Given the description of an element on the screen output the (x, y) to click on. 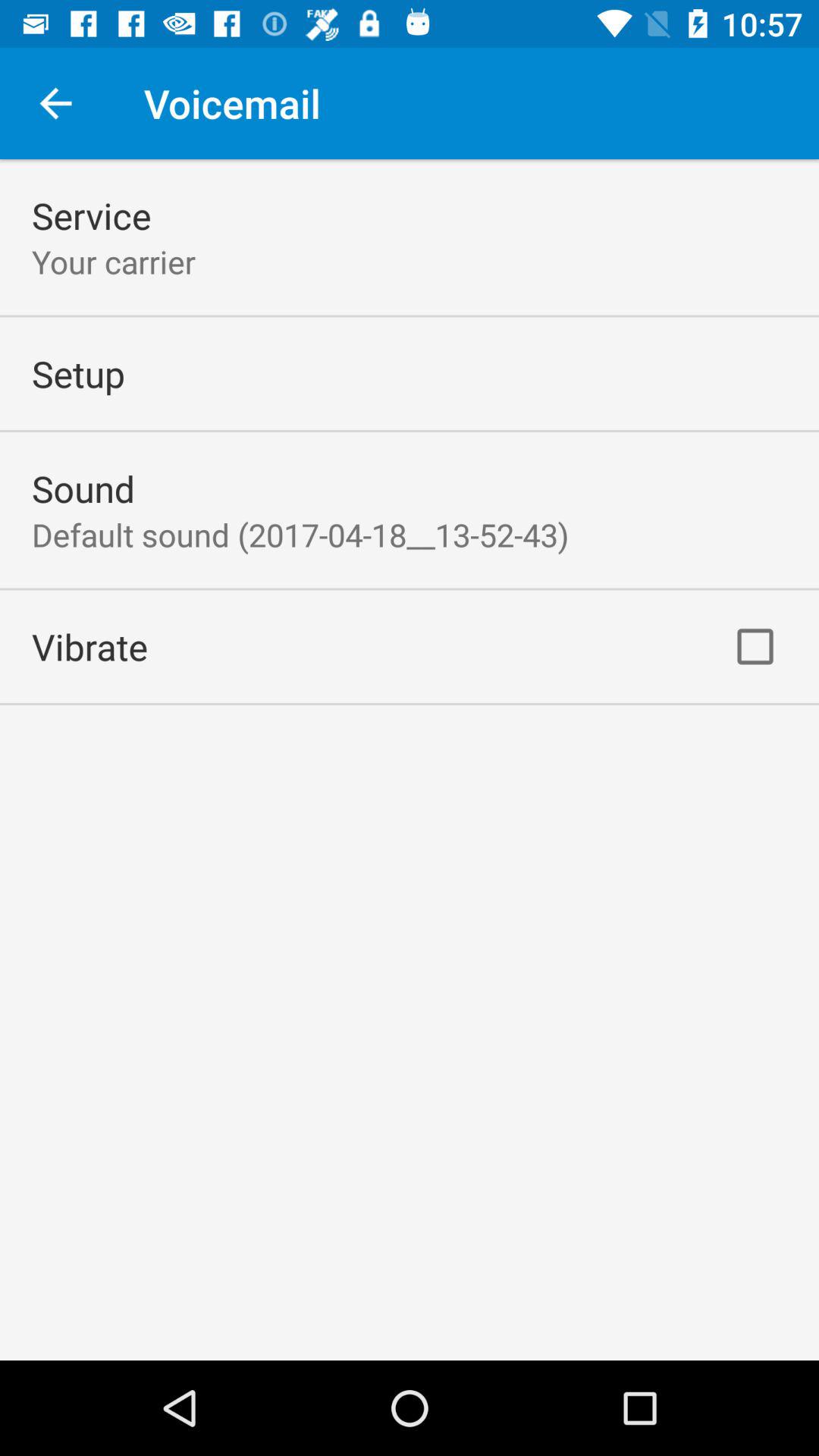
choose setup icon (78, 373)
